Given the description of an element on the screen output the (x, y) to click on. 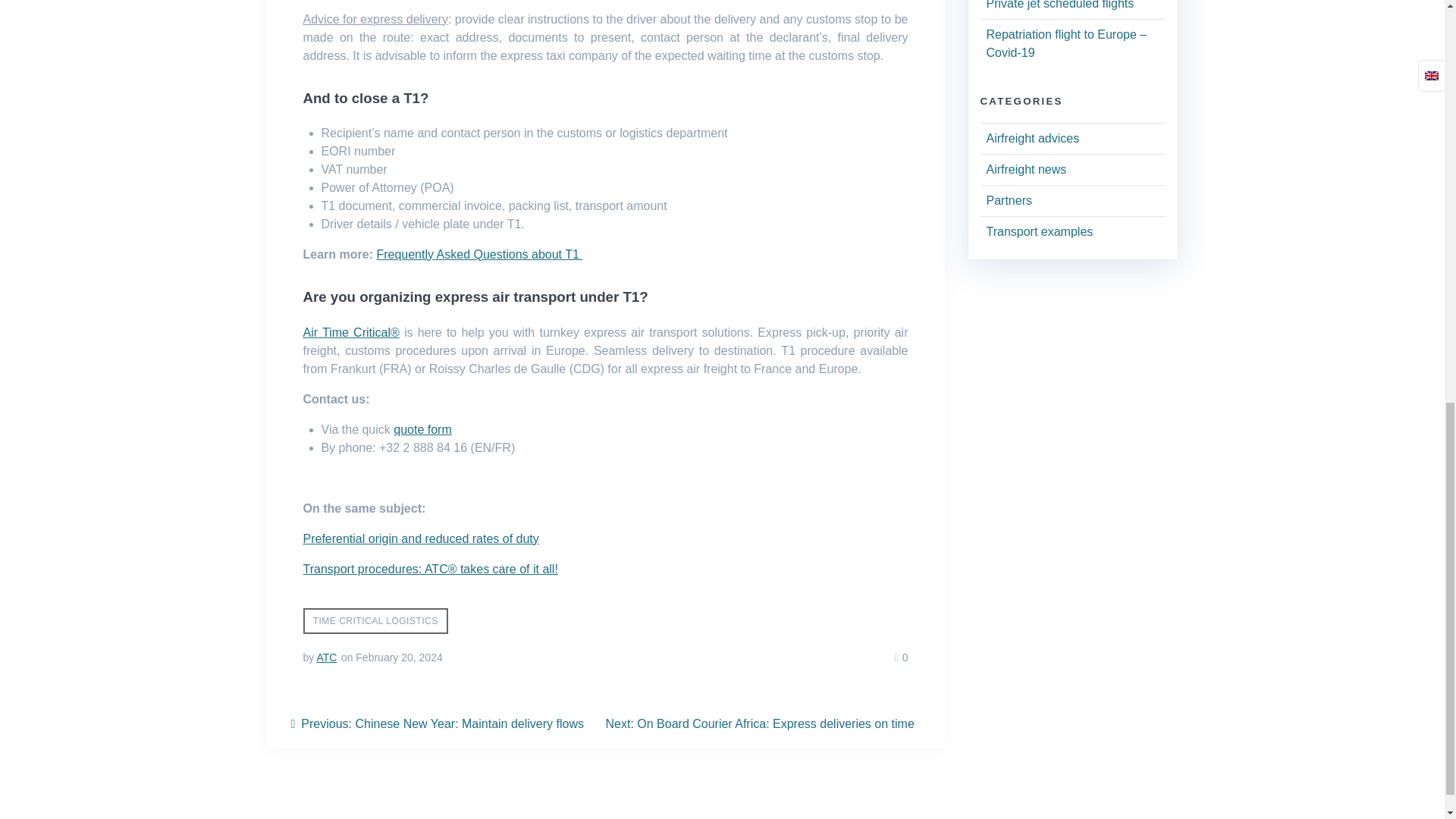
Posts by ATC (325, 657)
